Given the description of an element on the screen output the (x, y) to click on. 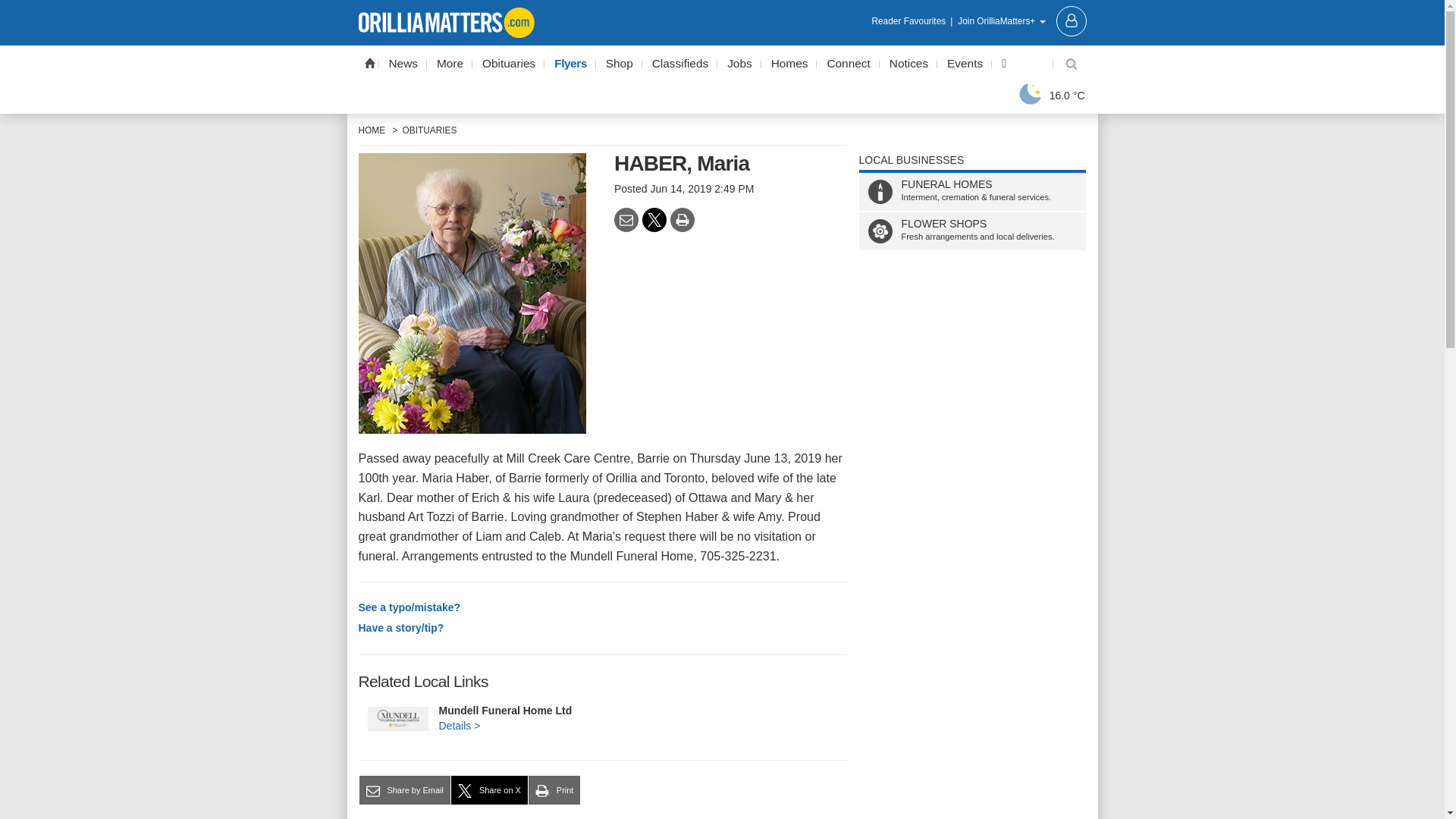
Home (368, 62)
Reader Favourites (912, 21)
News (403, 64)
